Given the description of an element on the screen output the (x, y) to click on. 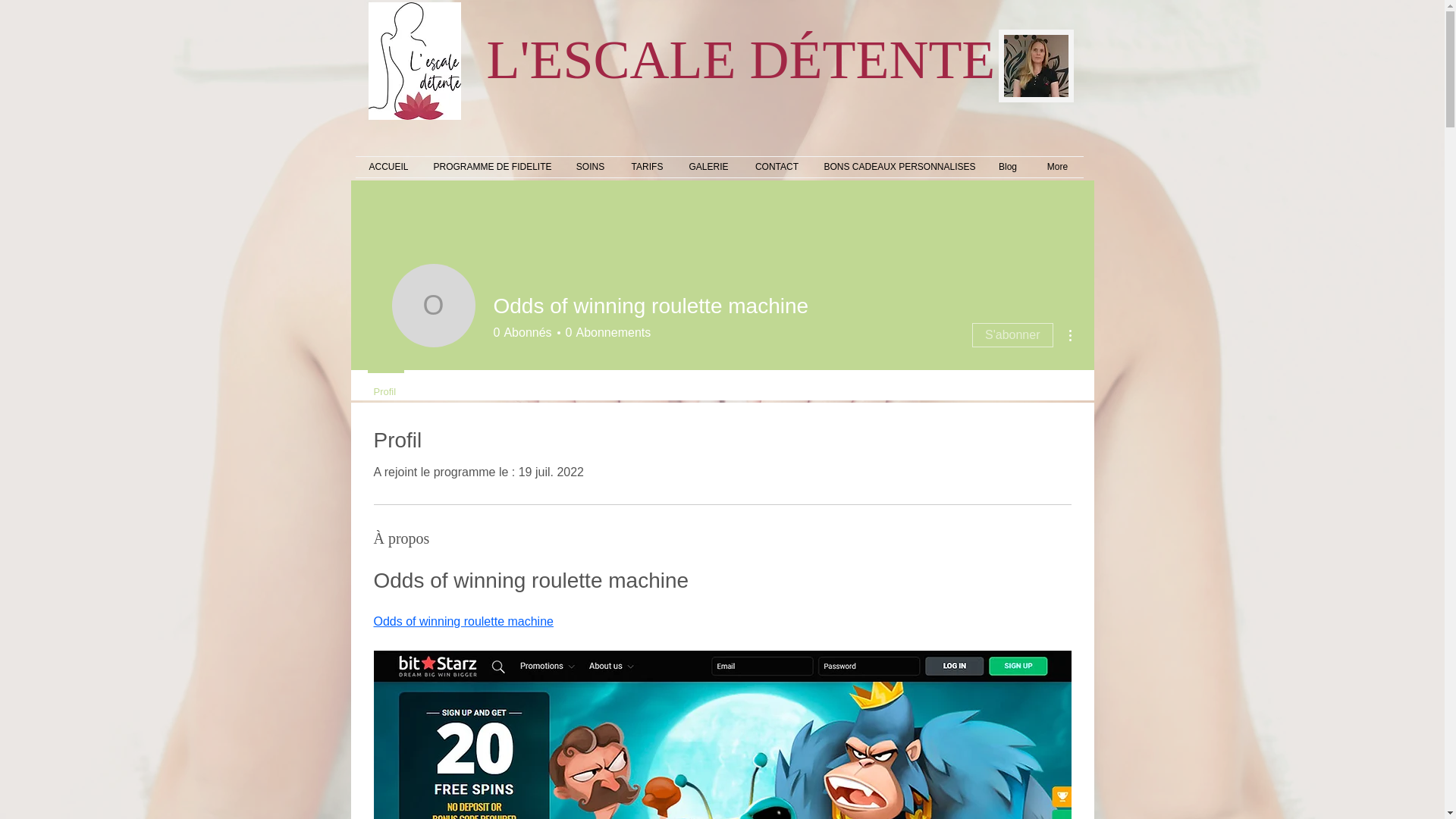
SOINS (590, 167)
TARIFS (647, 167)
Marina (1035, 65)
PROGRAMME DE FIDELITE (492, 167)
GALERIE (709, 167)
ACCUEIL (388, 167)
Odds of winning roulette machine (462, 621)
BONS CADEAUX PERSONNALISES (898, 167)
S'abonner (1012, 334)
CONTACT (605, 332)
Odds of winning roulette machine (776, 167)
Profil (432, 305)
Blog (384, 385)
